Given the description of an element on the screen output the (x, y) to click on. 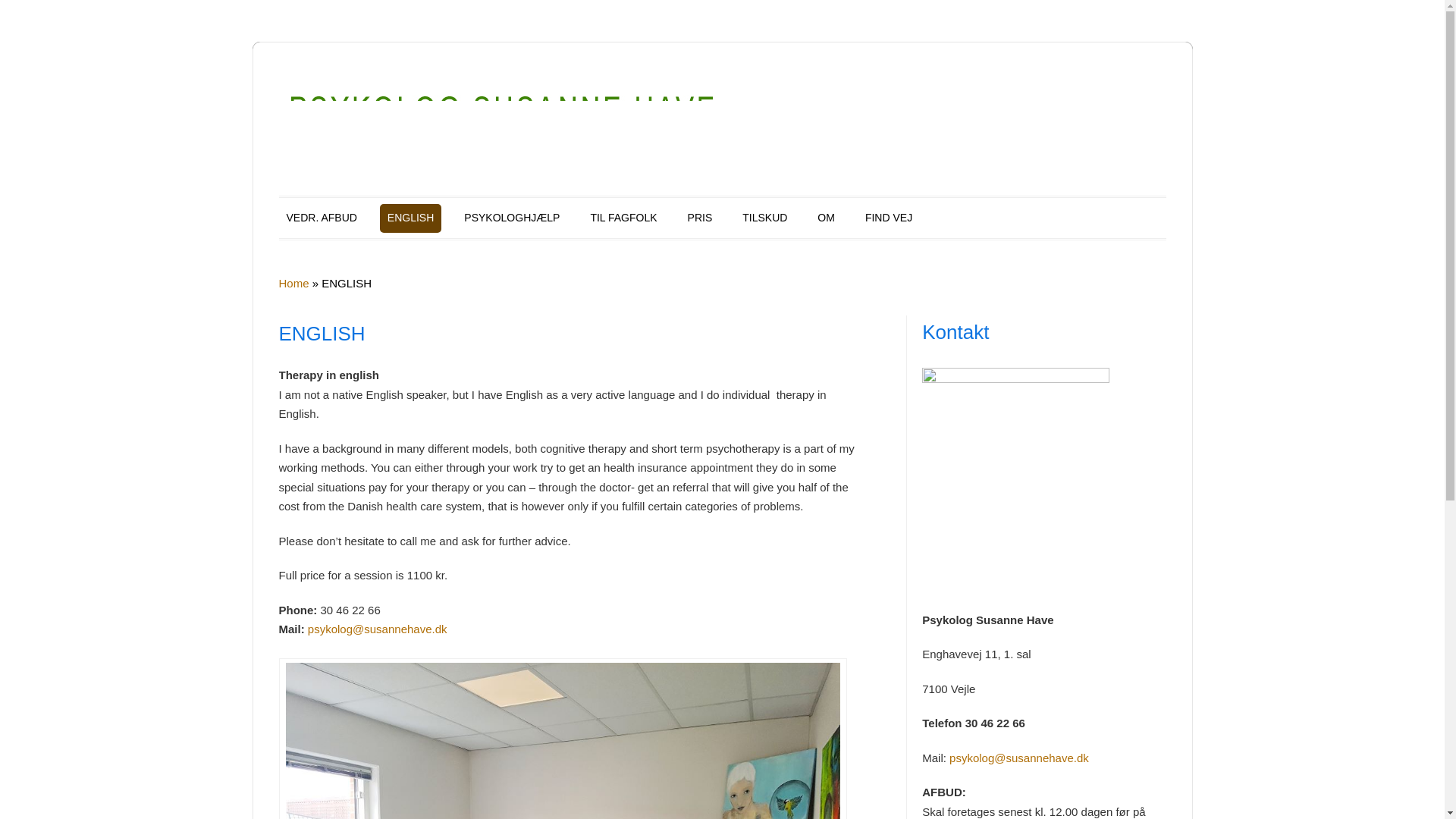
Home (293, 282)
FIND VEJ (888, 217)
VEDR. AFBUD (322, 217)
ENGLISH (410, 217)
OM (826, 217)
PRIS (699, 217)
TIL FAGFOLK (622, 217)
TILSKUD (764, 217)
